Given the description of an element on the screen output the (x, y) to click on. 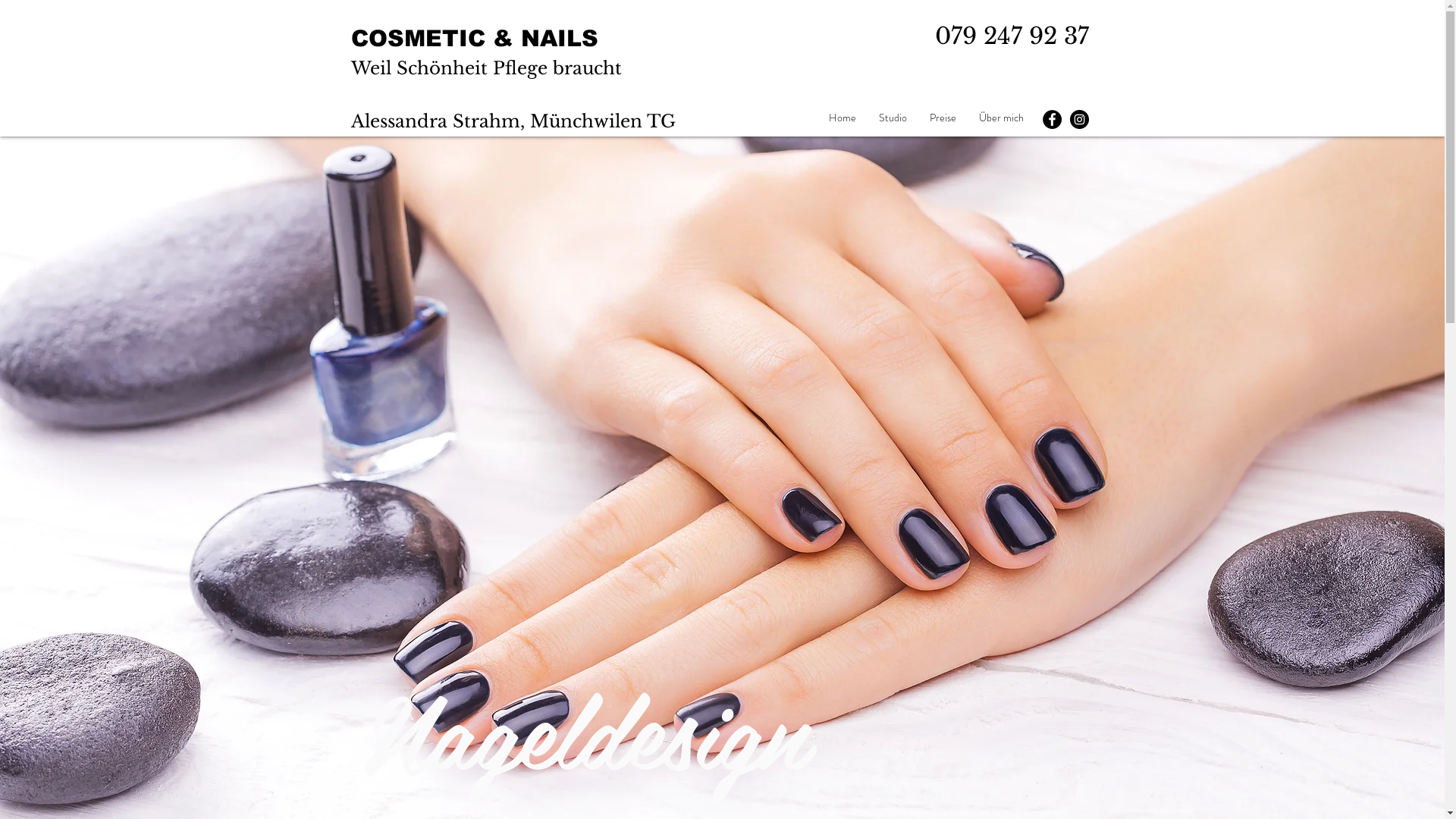
Studio Element type: text (892, 117)
COSMETIC & NAILS Element type: text (473, 37)
Home Element type: text (842, 117)
Preise Element type: text (941, 117)
079 247 92 37 Element type: text (1011, 35)
